Given the description of an element on the screen output the (x, y) to click on. 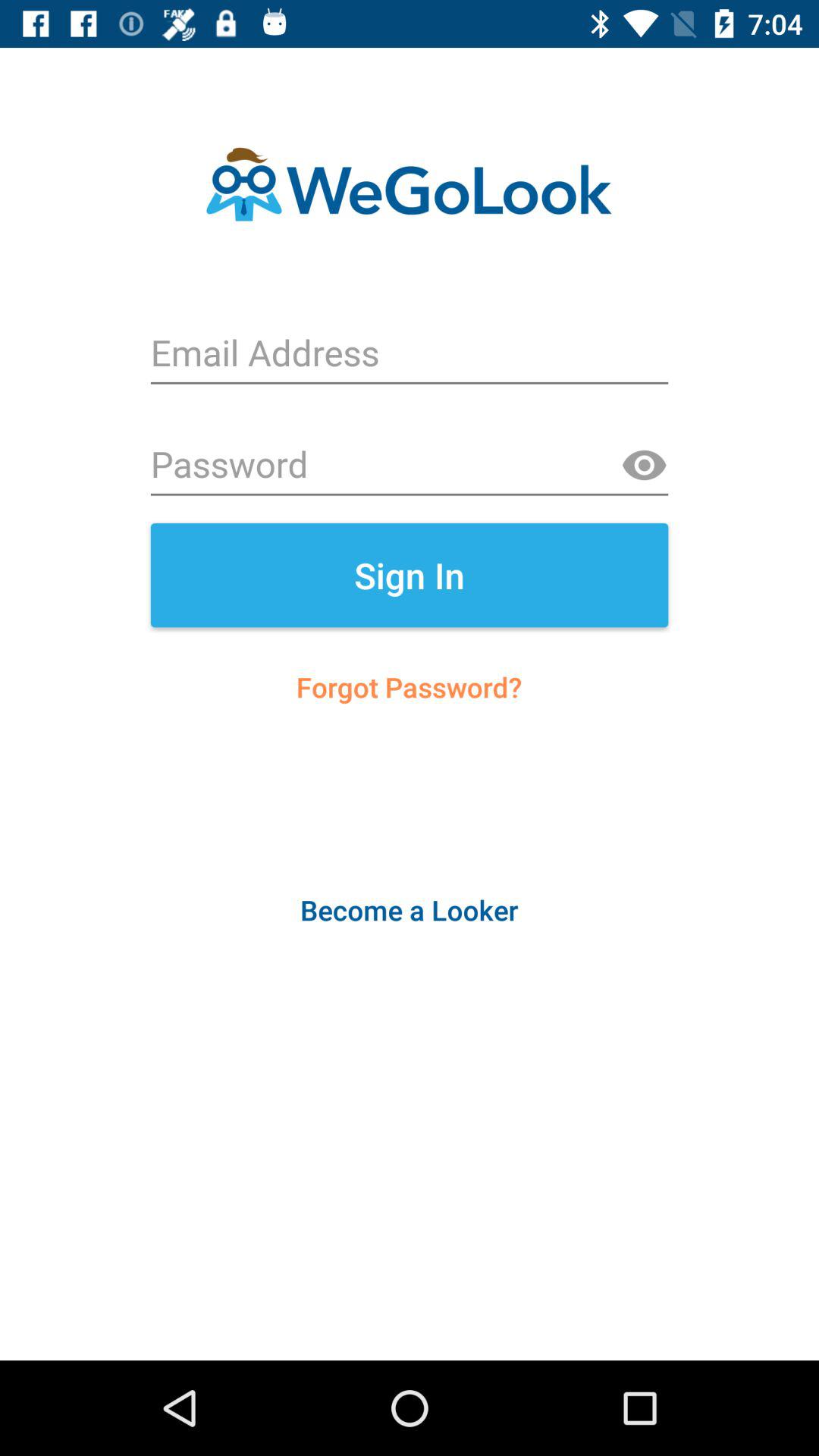
launch item above sign in (644, 465)
